Given the description of an element on the screen output the (x, y) to click on. 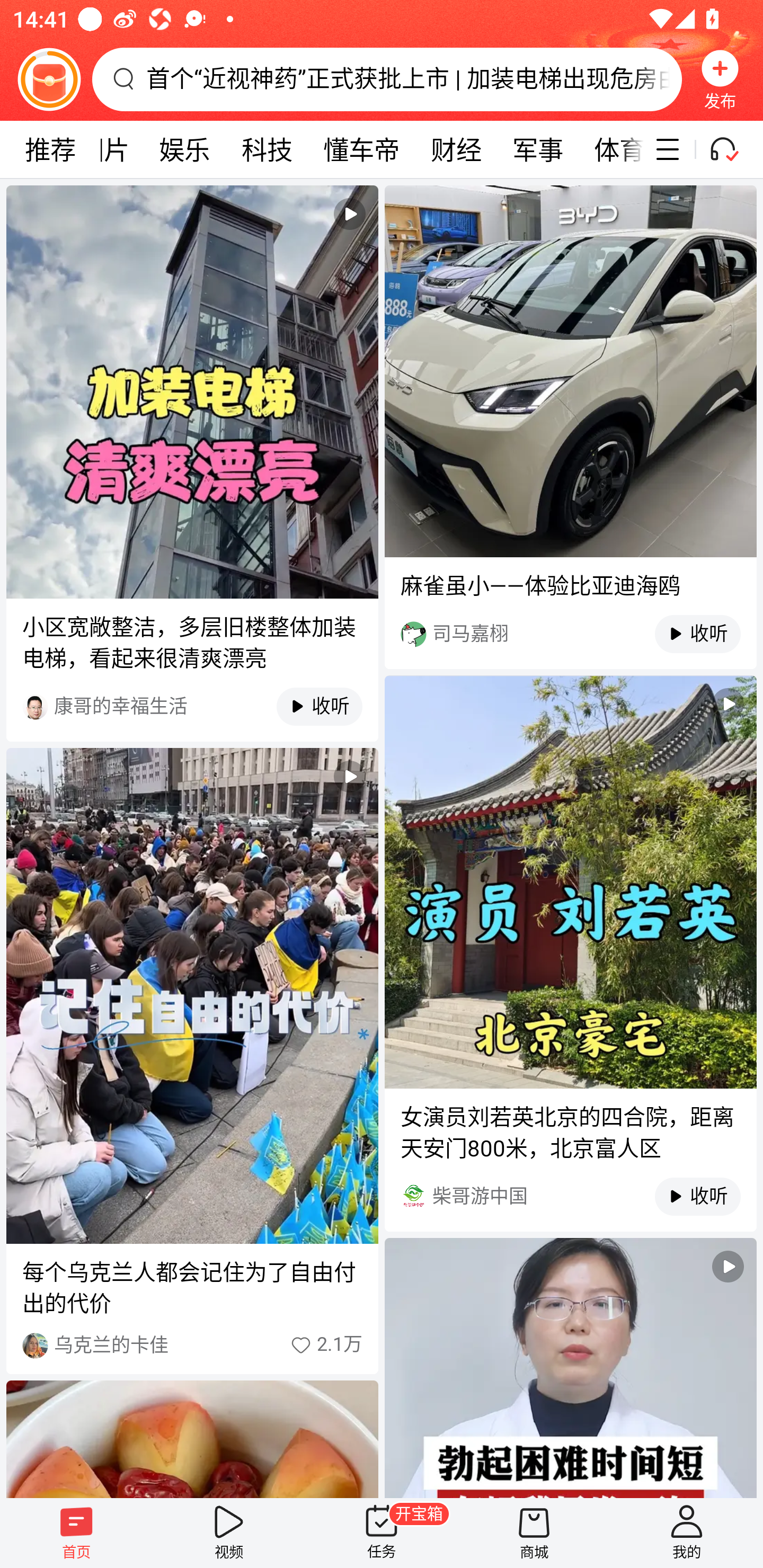
阅读赚金币 (48, 79)
发布 发布，按钮 (720, 78)
推荐 (49, 149)
娱乐 (184, 149)
科技 (266, 149)
懂车帝 (361, 149)
财经 (456, 149)
军事 (537, 149)
体育 (610, 149)
听一听开关 (732, 149)
麻雀虽小——体验比亚迪海鸥  作者,司马嘉栩,按钮 司马嘉栩 收听 (570, 427)
作者,司马嘉栩,按钮 司马嘉栩 收听 (570, 633)
收听 (687, 633)
作者,康哥的幸福生活,按钮 康哥的幸福生活 收听 (192, 706)
收听 (309, 706)
作者,柴哥游中国,按钮 柴哥游中国 收听 (570, 1195)
收听 (687, 1196)
视频 (570, 1367)
作者,乌克兰的卡佳,按钮 乌克兰的卡佳 赞2.1万 赞 (192, 1345)
首页 (76, 1532)
视频 (228, 1532)
任务 开宝箱 (381, 1532)
商城 (533, 1532)
我的 (686, 1532)
